Given the description of an element on the screen output the (x, y) to click on. 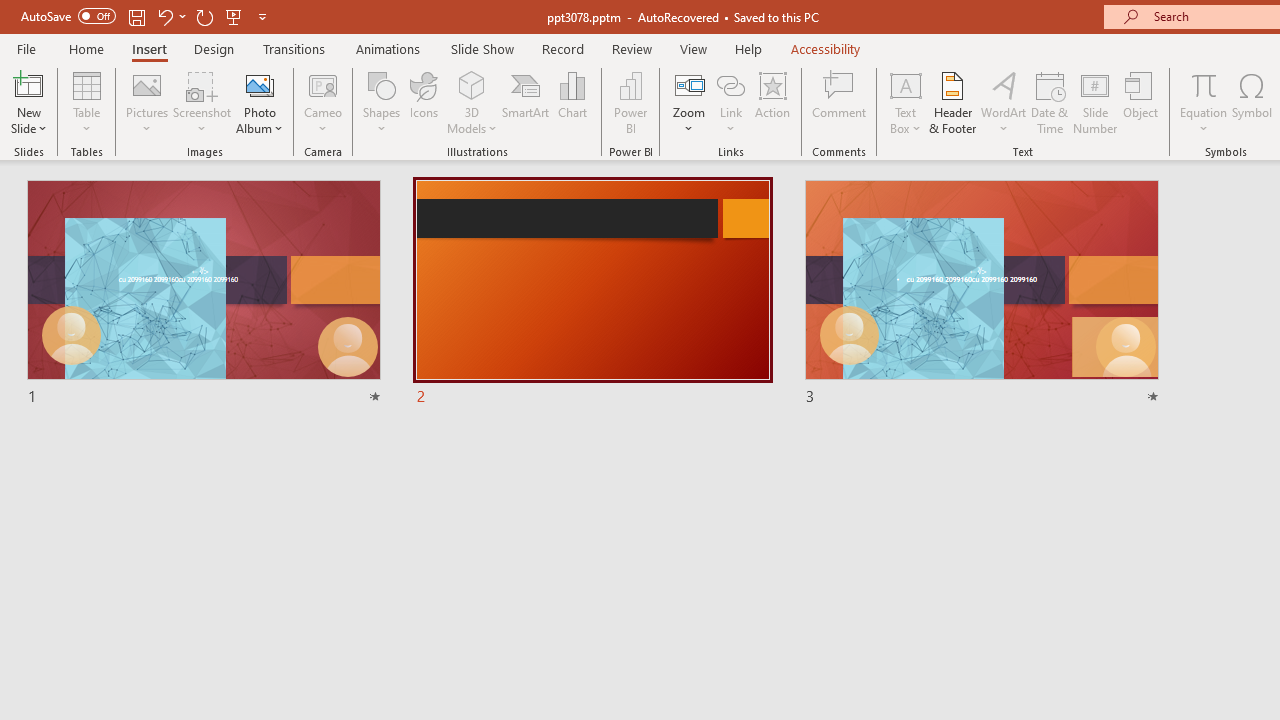
View (693, 48)
Shapes (381, 102)
Cameo (323, 84)
Home (86, 48)
Insert (149, 48)
Design (214, 48)
Customize Quick Access Toolbar (262, 15)
Link (731, 84)
Review (631, 48)
Icons (424, 102)
Help (748, 48)
New Slide (28, 102)
Comment (839, 102)
New Photo Album... (259, 84)
Undo (170, 15)
